Given the description of an element on the screen output the (x, y) to click on. 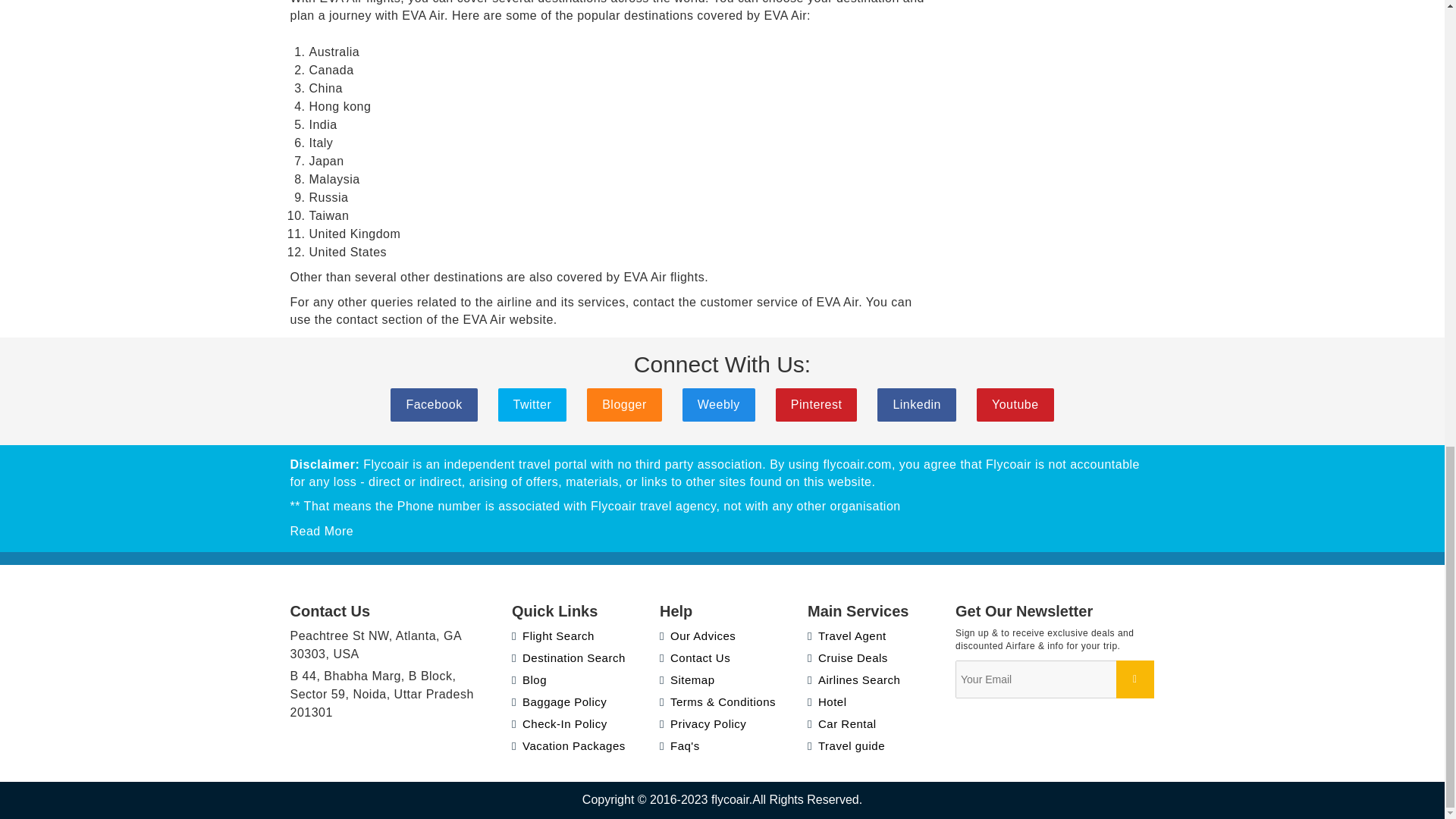
Twitter (532, 404)
Travel guide (846, 745)
Flight Search (553, 635)
Facebook (433, 404)
Weebly (718, 404)
Travel Agent (847, 635)
Check-In Policy (559, 723)
Sitemap (686, 679)
Our Advices (697, 635)
Cruise Deals (848, 657)
